Given the description of an element on the screen output the (x, y) to click on. 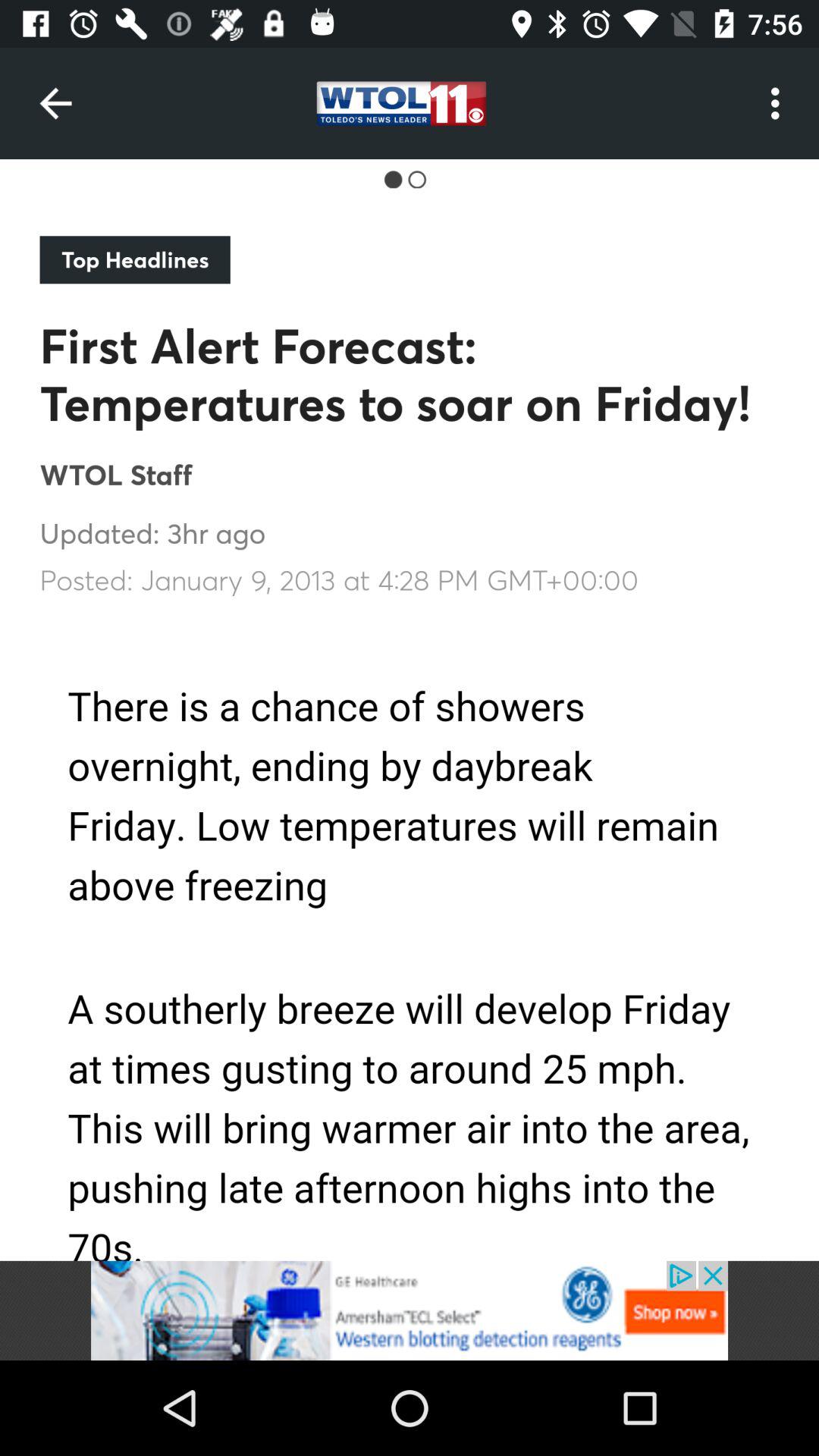
advertisement page (409, 1310)
